Given the description of an element on the screen output the (x, y) to click on. 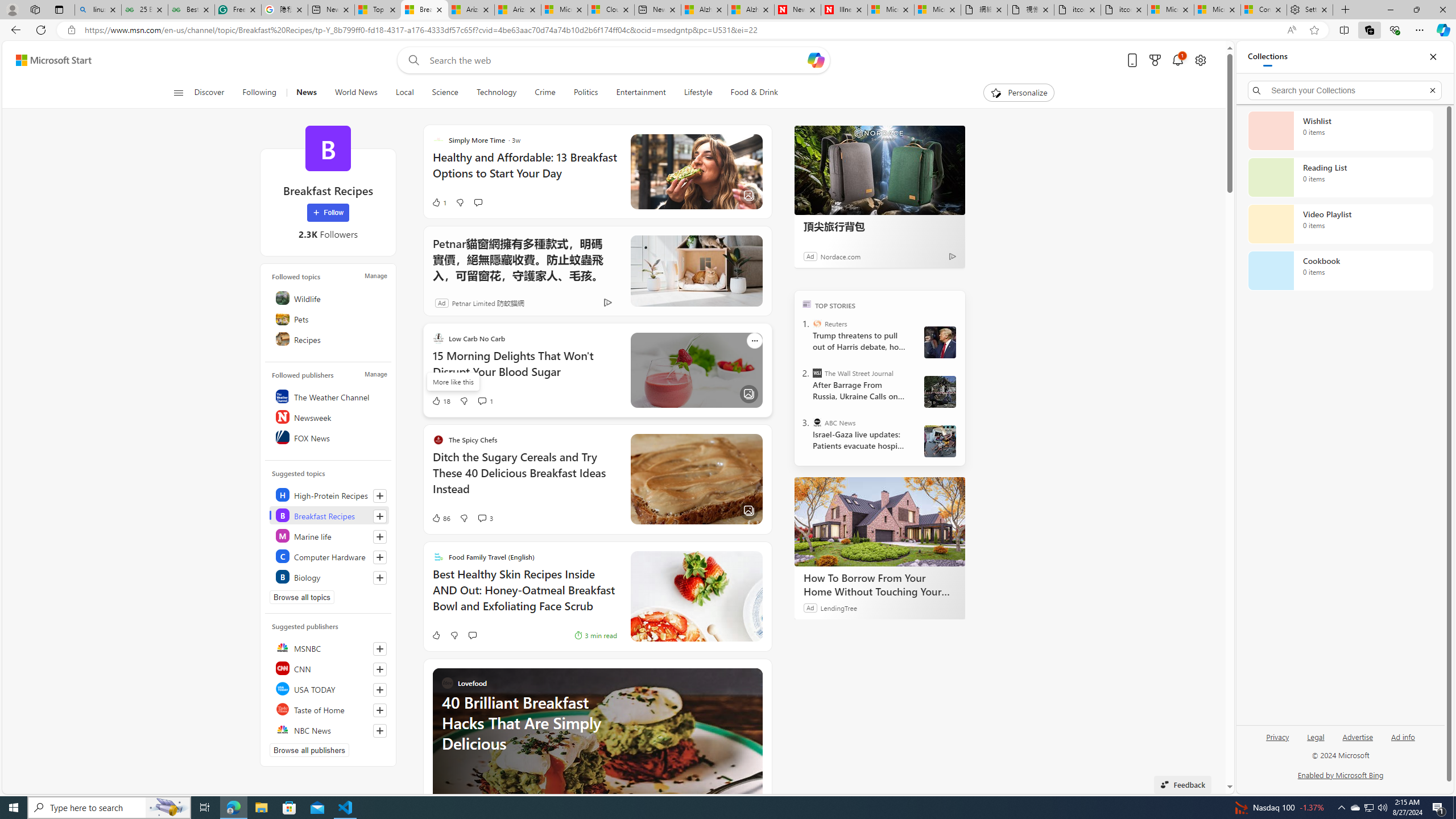
25 Basic Linux Commands For Beginners - GeeksforGeeks (144, 9)
Wishlist collection, 0 items (1339, 130)
